Given the description of an element on the screen output the (x, y) to click on. 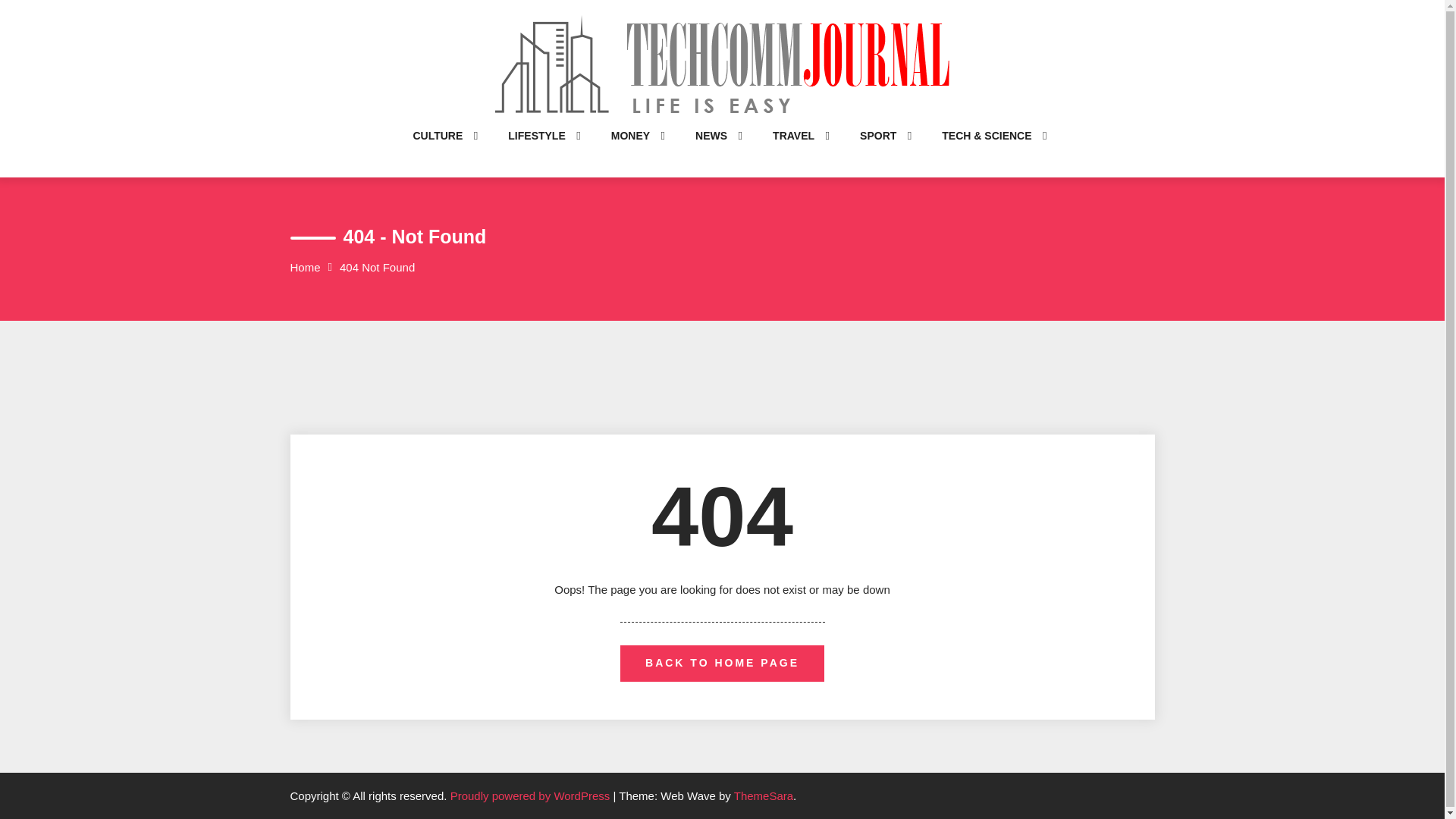
LIFESTYLE (536, 150)
CULTURE (437, 150)
MONEY (630, 150)
NEWS (710, 150)
